Given the description of an element on the screen output the (x, y) to click on. 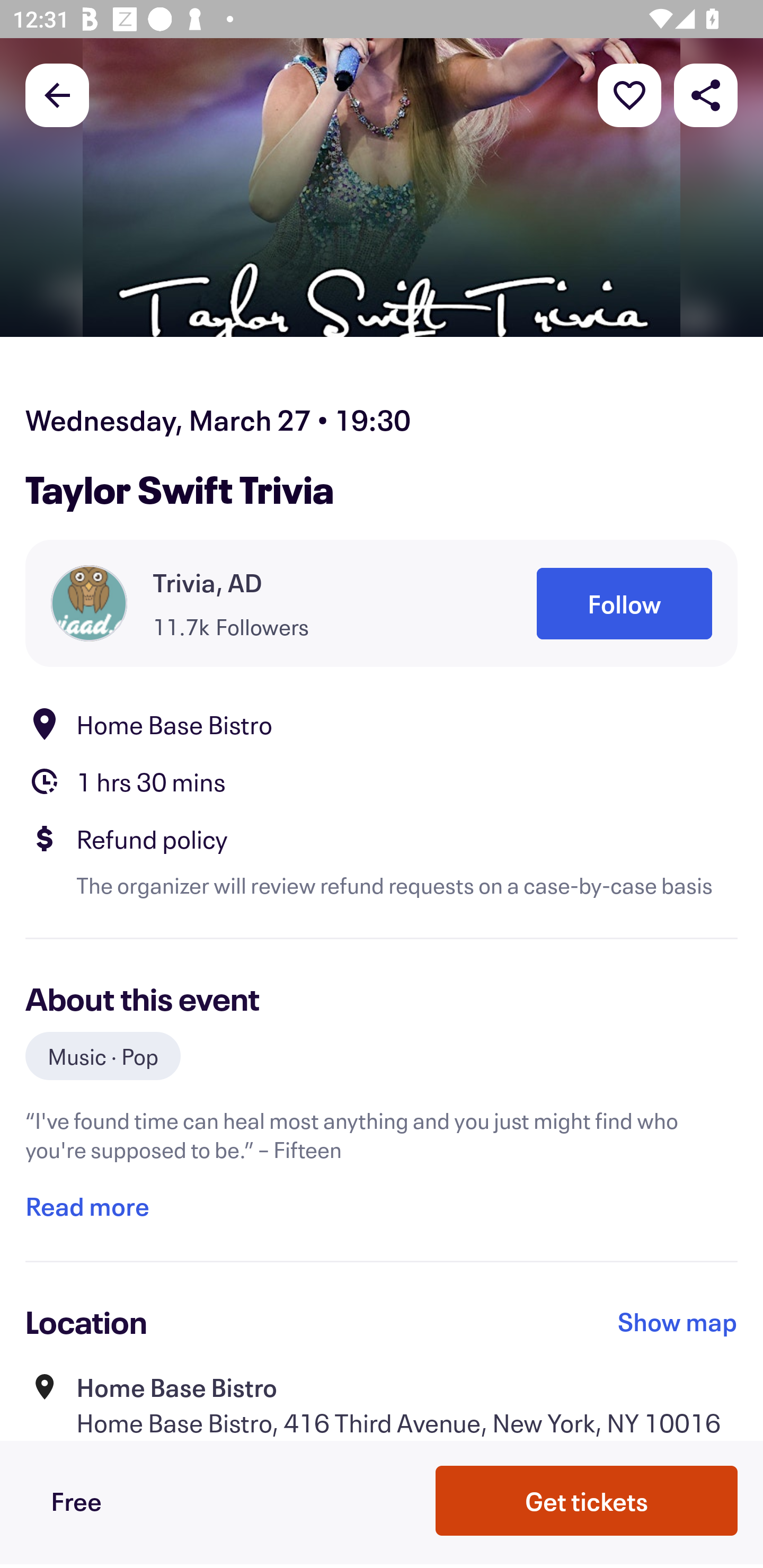
Back (57, 94)
More (629, 94)
Share (705, 94)
Trivia, AD (207, 582)
Organizer profile picture (89, 602)
Follow (623, 603)
Location Home Base Bistro (381, 724)
Read more (87, 1206)
Show map (677, 1321)
